Given the description of an element on the screen output the (x, y) to click on. 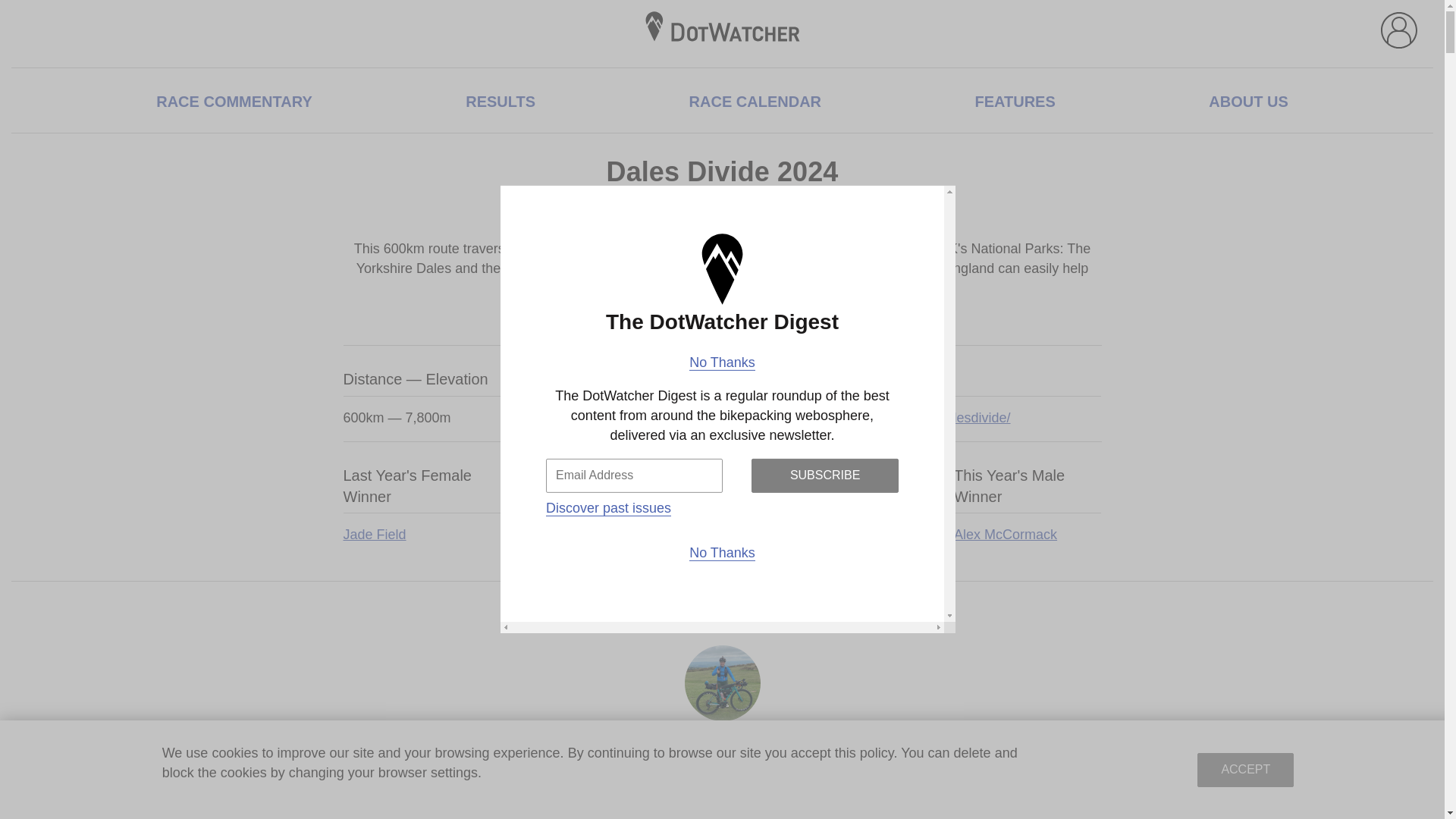
ABOUT US (1247, 101)
Results (500, 101)
FEATURES (1015, 101)
About Us (1247, 101)
Jade Field (826, 534)
RESULTS (500, 101)
RACE COMMENTARY (234, 101)
Race Calendar (754, 101)
Justinas Leveika (624, 534)
My Account (1398, 30)
Alex McCormack (1026, 534)
Features (1015, 101)
Kitty Dennis (722, 733)
Jade Field (424, 534)
